Given the description of an element on the screen output the (x, y) to click on. 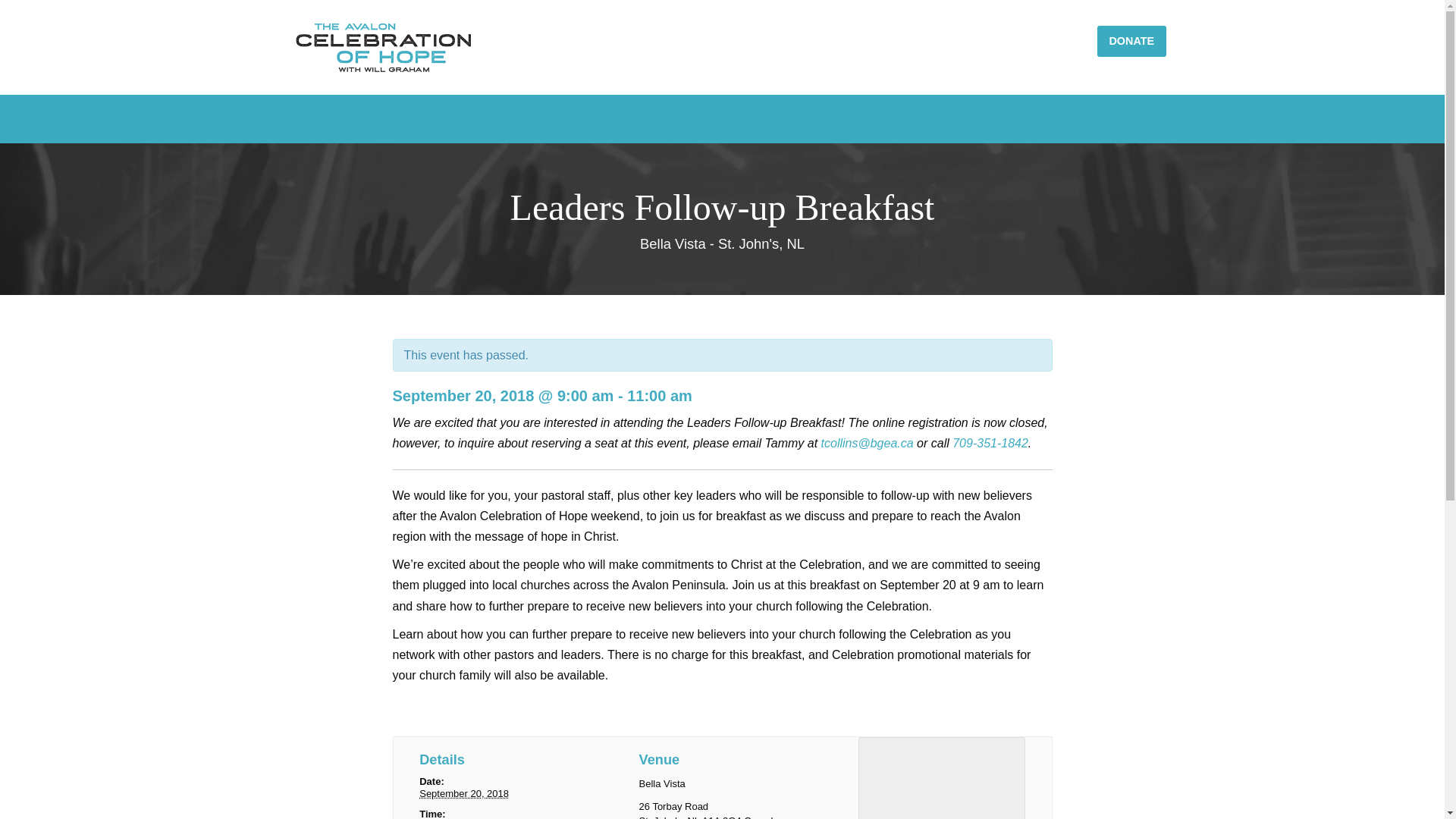
ABOUT Element type: text (540, 118)
HOME Element type: text (476, 118)
tcollins@bgea.ca Element type: text (867, 442)
DONATE Element type: text (901, 118)
GET INVOLVED Element type: text (629, 118)
STORIES Element type: text (825, 118)
RESOURCES Element type: text (736, 118)
709-351-1842 Element type: text (990, 442)
Avalon Celebration of Hope Element type: hover (383, 46)
Search Element type: text (827, 170)
DONATE Element type: text (1131, 40)
